Given the description of an element on the screen output the (x, y) to click on. 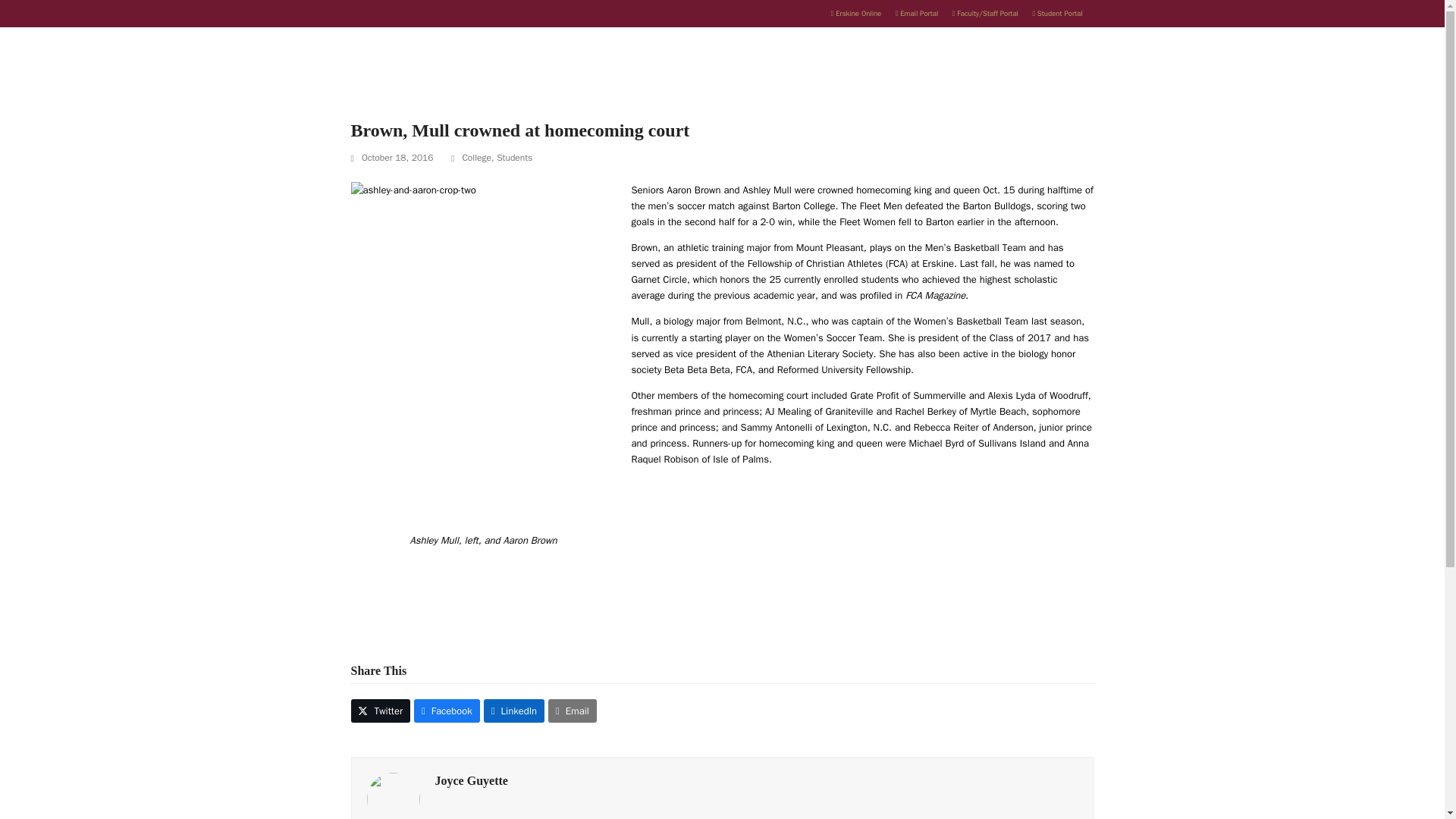
Visit Author Page (471, 780)
Erskine Online (855, 13)
Email Portal (916, 13)
Student Portal (1056, 13)
Visit Author Page (393, 798)
